Given the description of an element on the screen output the (x, y) to click on. 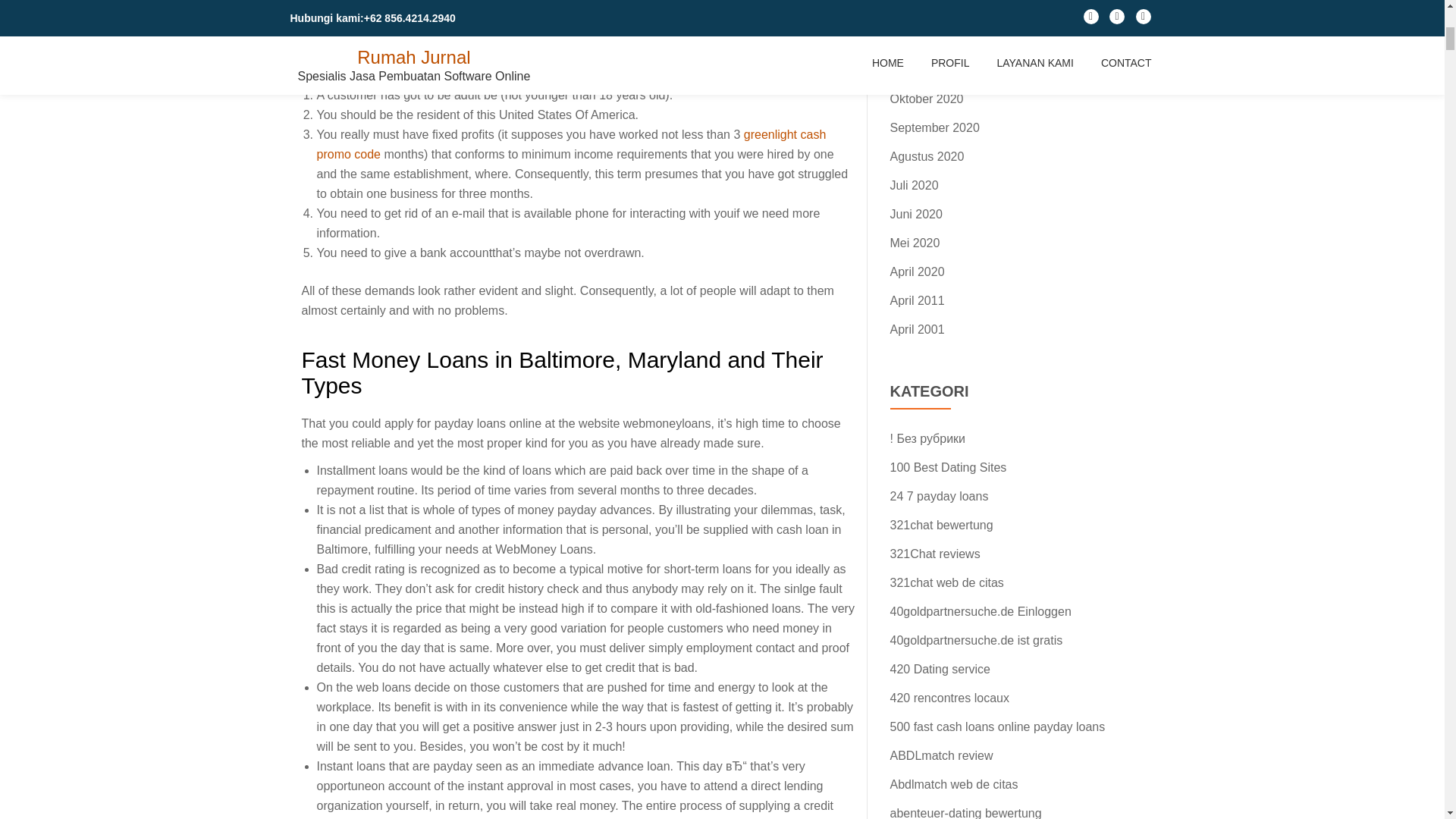
greenlight cash promo code (572, 143)
